Given the description of an element on the screen output the (x, y) to click on. 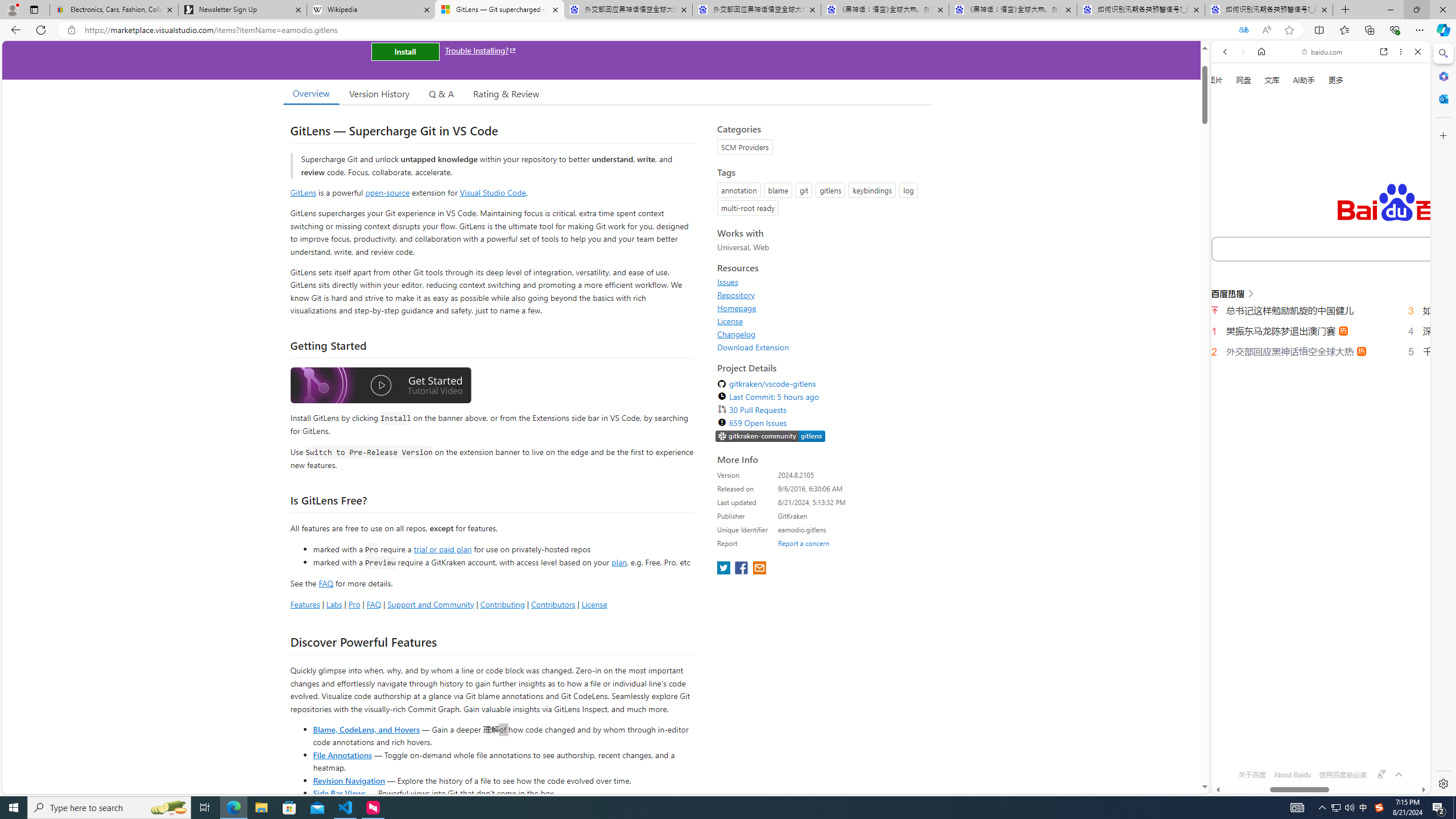
Cambridge Dictionary (1315, 397)
Repository (820, 294)
Features (304, 603)
About Baidu (1292, 774)
OFTV (1315, 743)
Install (405, 51)
